Given the description of an element on the screen output the (x, y) to click on. 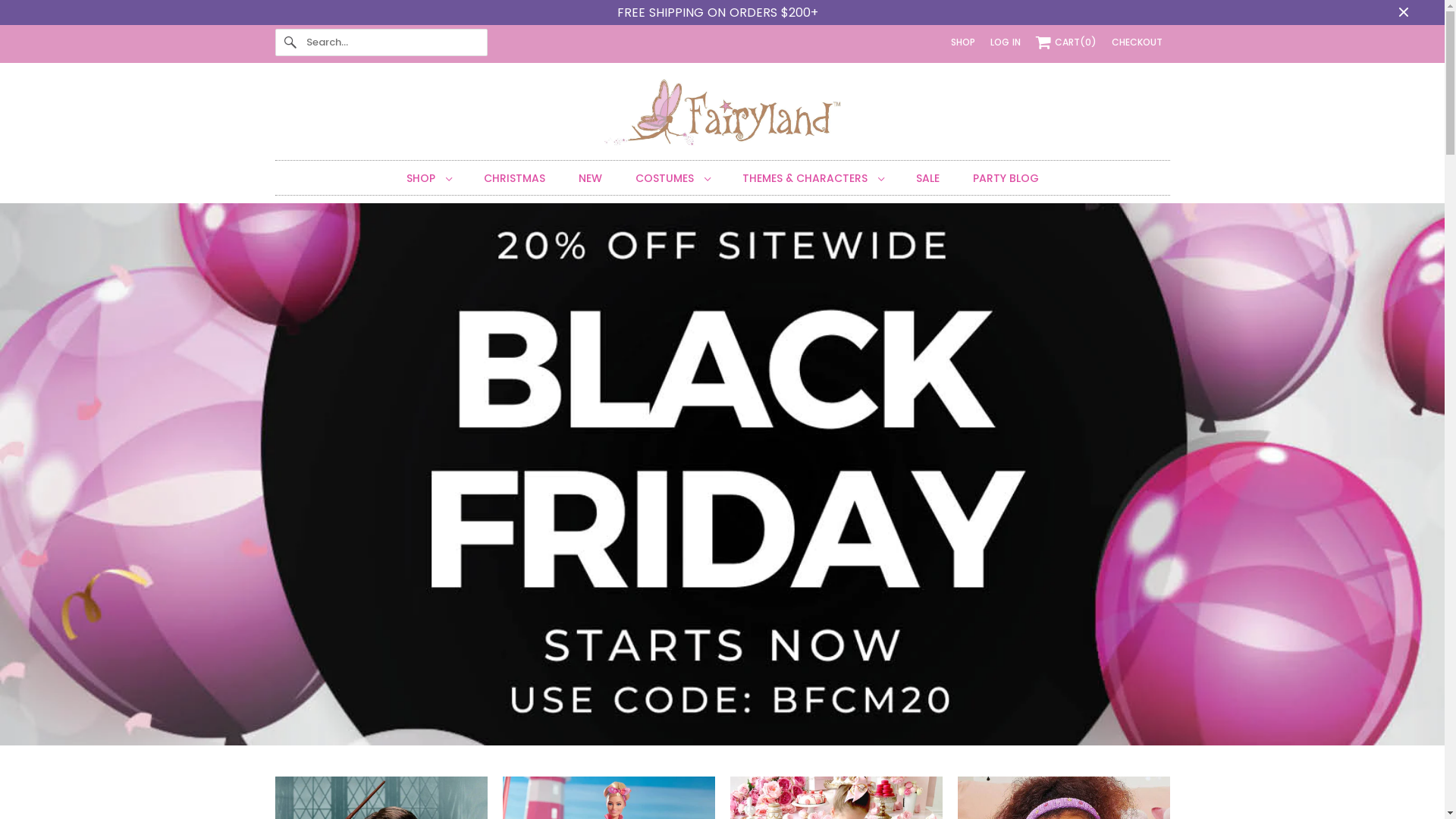
CART
(
0
) Element type: text (1065, 42)
CHRISTMAS Element type: text (514, 178)
SHOP Element type: text (962, 42)
PARTY BLOG Element type: text (1005, 178)
NEW Element type: text (589, 178)
SALE Element type: text (927, 178)
LOG IN Element type: text (1005, 42)
CHECKOUT Element type: text (1136, 42)
